Given the description of an element on the screen output the (x, y) to click on. 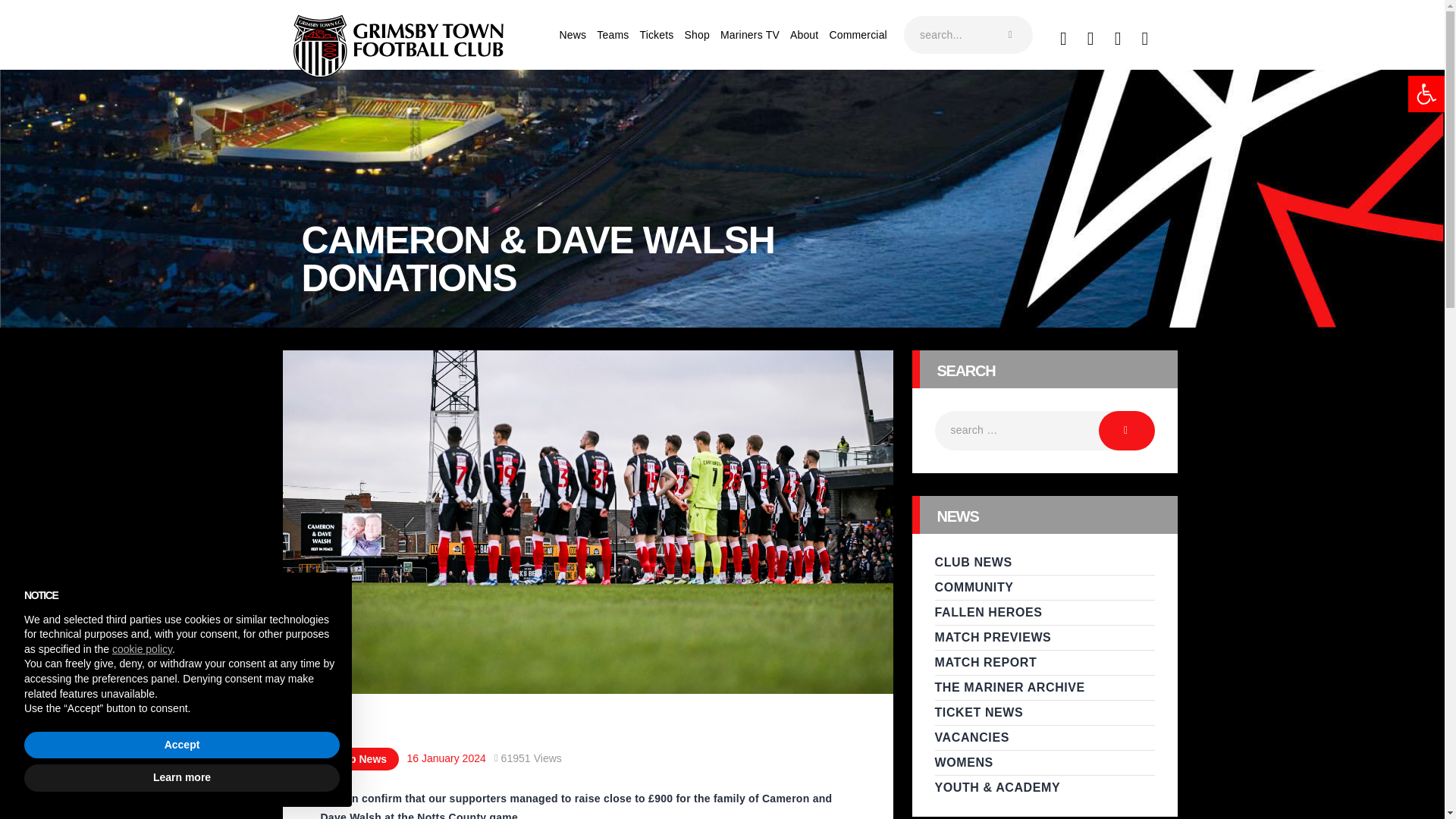
Shop (696, 35)
Teams (612, 35)
News (573, 35)
Search (1126, 430)
Mariners TV (749, 35)
Search (1126, 430)
Accessibility Tools (1426, 93)
Tickets (655, 35)
About (804, 35)
